Given the description of an element on the screen output the (x, y) to click on. 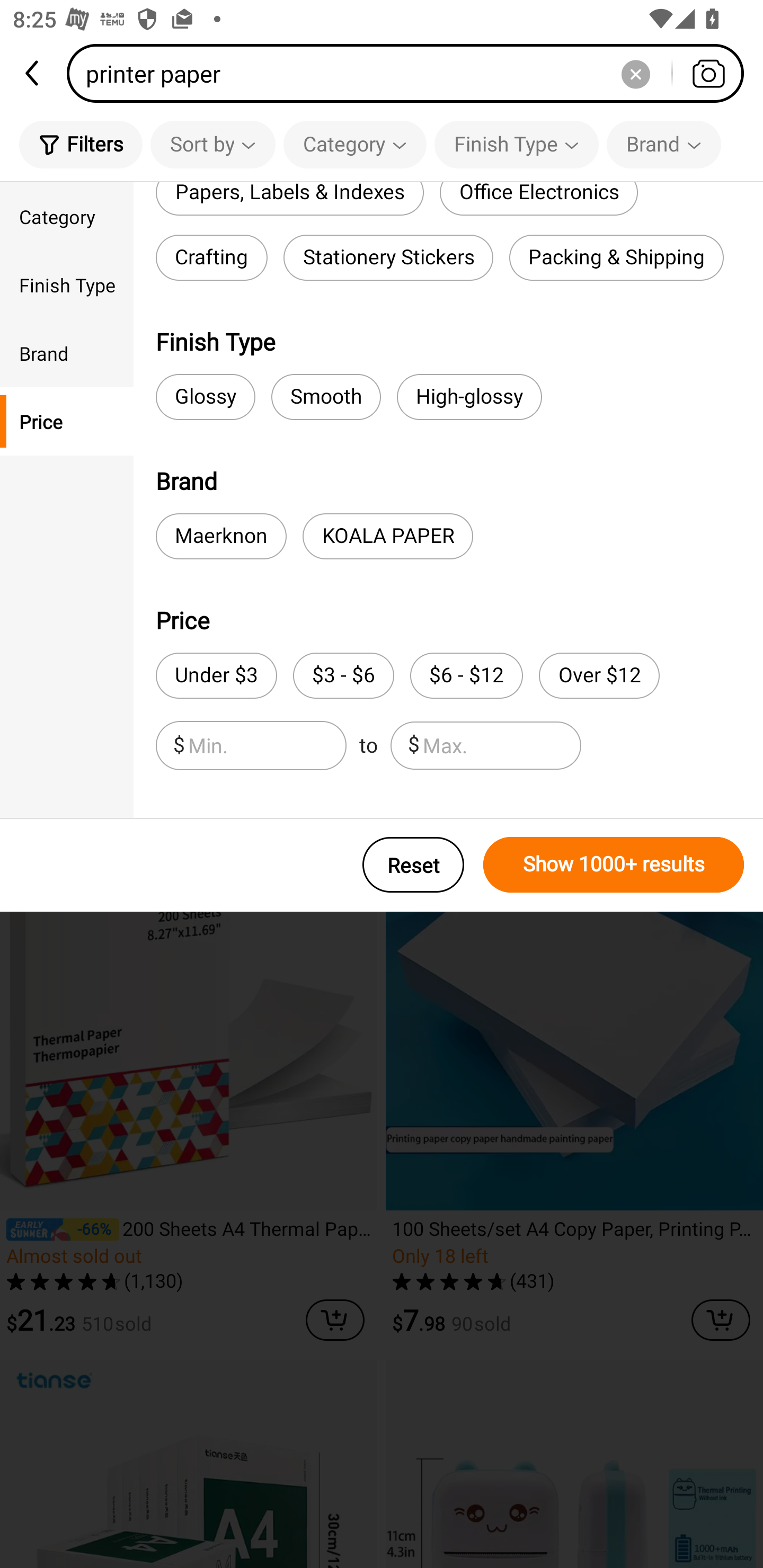
back (33, 72)
printer paper (411, 73)
Delete search history (635, 73)
Search by photo (708, 73)
Filters (80, 143)
Sort by (212, 143)
Category (354, 143)
Finish Type (516, 143)
Brand (663, 143)
Category (66, 215)
Papers, Labels & Indexes (289, 198)
Office Electronics (538, 198)
Crafting (211, 257)
Stationery Stickers (388, 257)
Packing & Shipping (616, 257)
Finish Type (66, 284)
Brand (66, 352)
Glossy (205, 397)
Smooth (325, 397)
High-glossy (468, 397)
Price (66, 421)
Maerknon (220, 535)
KOALA PAPER (387, 535)
Under $3 (215, 675)
$3 - $6 (343, 675)
$6 - $12 (466, 675)
Over $12 (598, 675)
$ Min. to $ Max. (368, 745)
Reset (412, 864)
Show 1000+ results (612, 864)
